Given the description of an element on the screen output the (x, y) to click on. 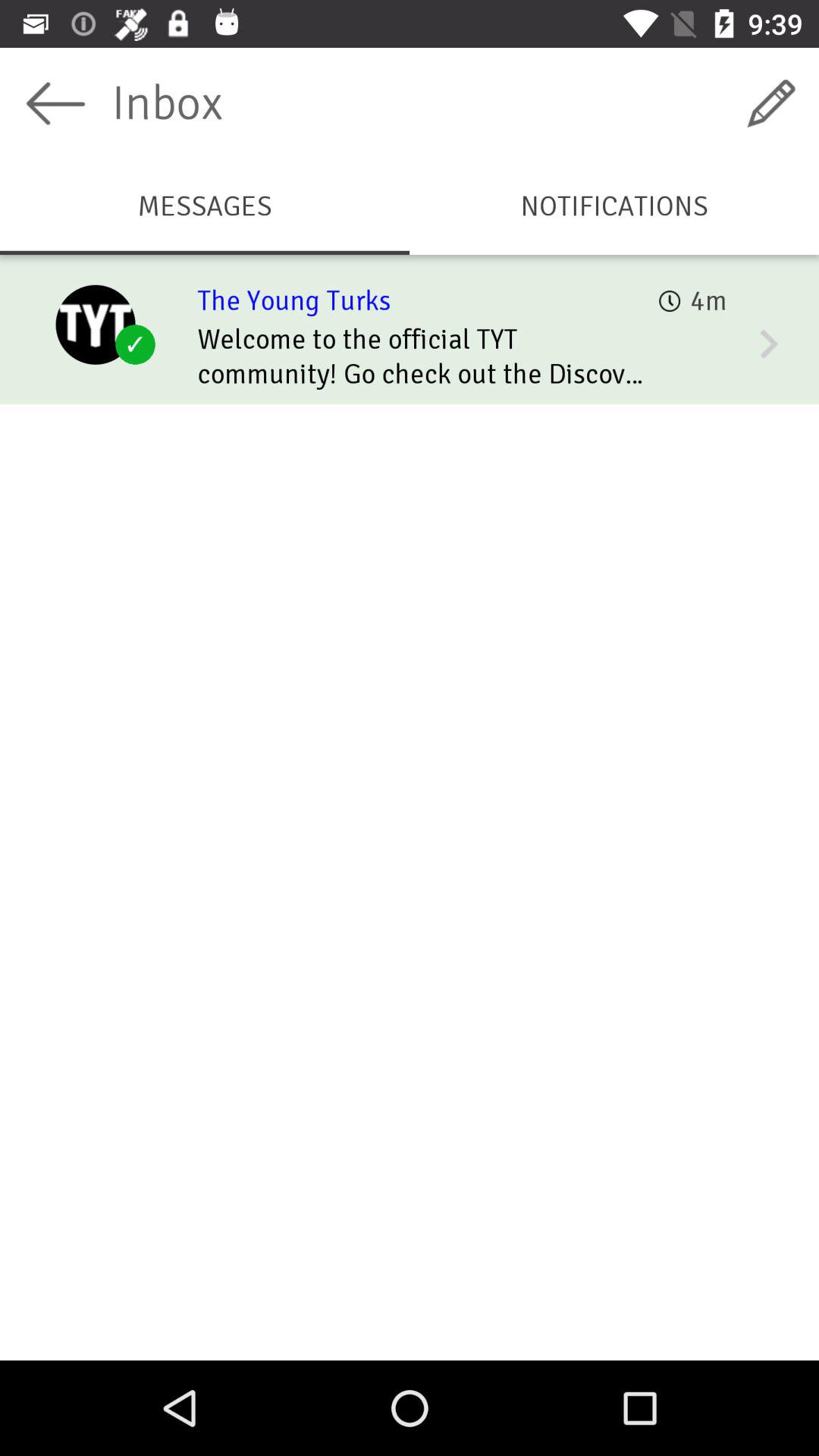
this button is to return to the previous page (55, 103)
